Given the description of an element on the screen output the (x, y) to click on. 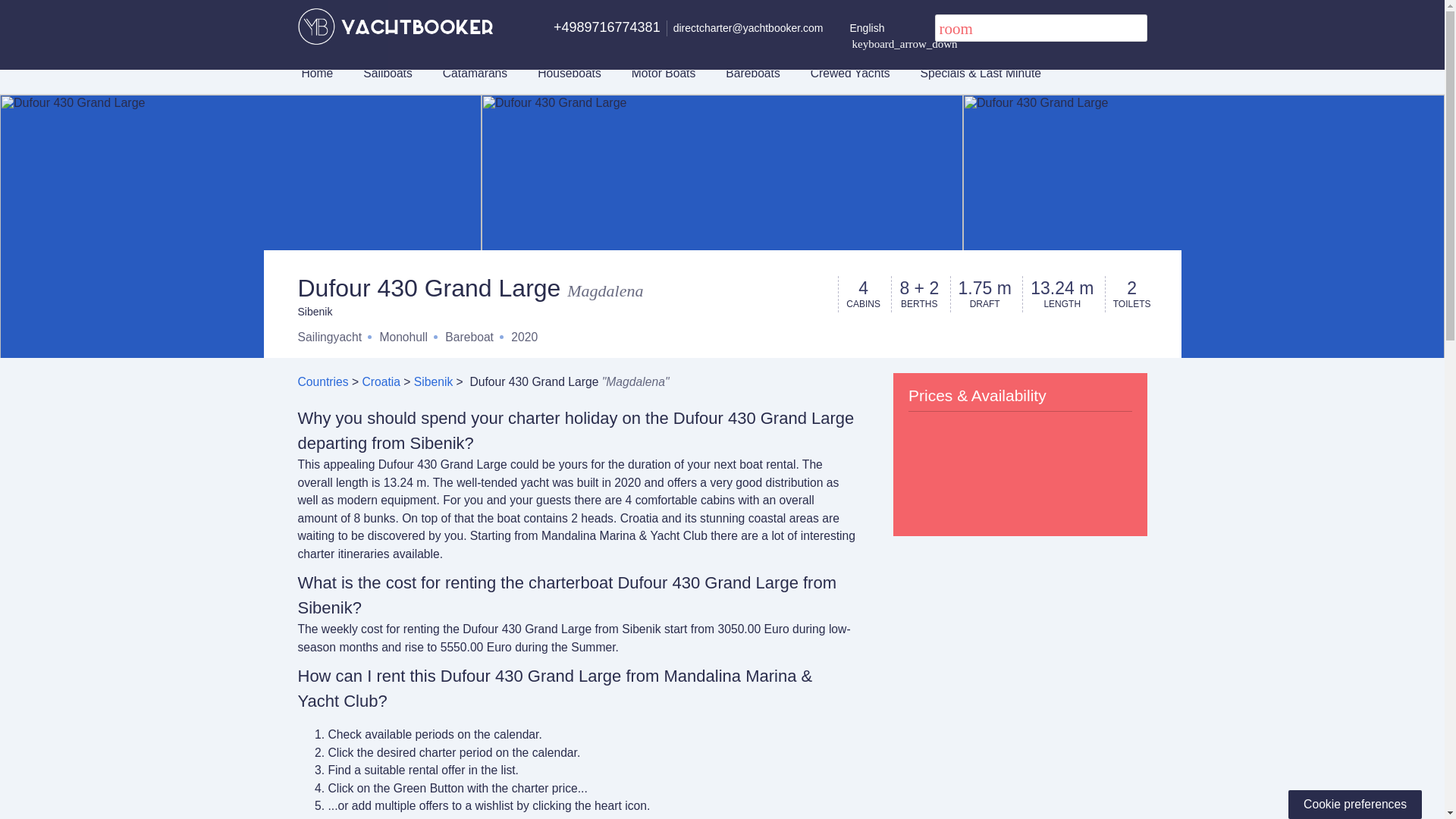
Sailboats (386, 72)
Catamarans (475, 72)
logo on Magdalena page (395, 26)
Sibenik (432, 381)
Home (317, 72)
Countries (322, 381)
Motor Boats (663, 72)
Crewed Yachts (849, 72)
Houseboats (568, 72)
Bareboats (752, 72)
Croatia (380, 381)
